Given the description of an element on the screen output the (x, y) to click on. 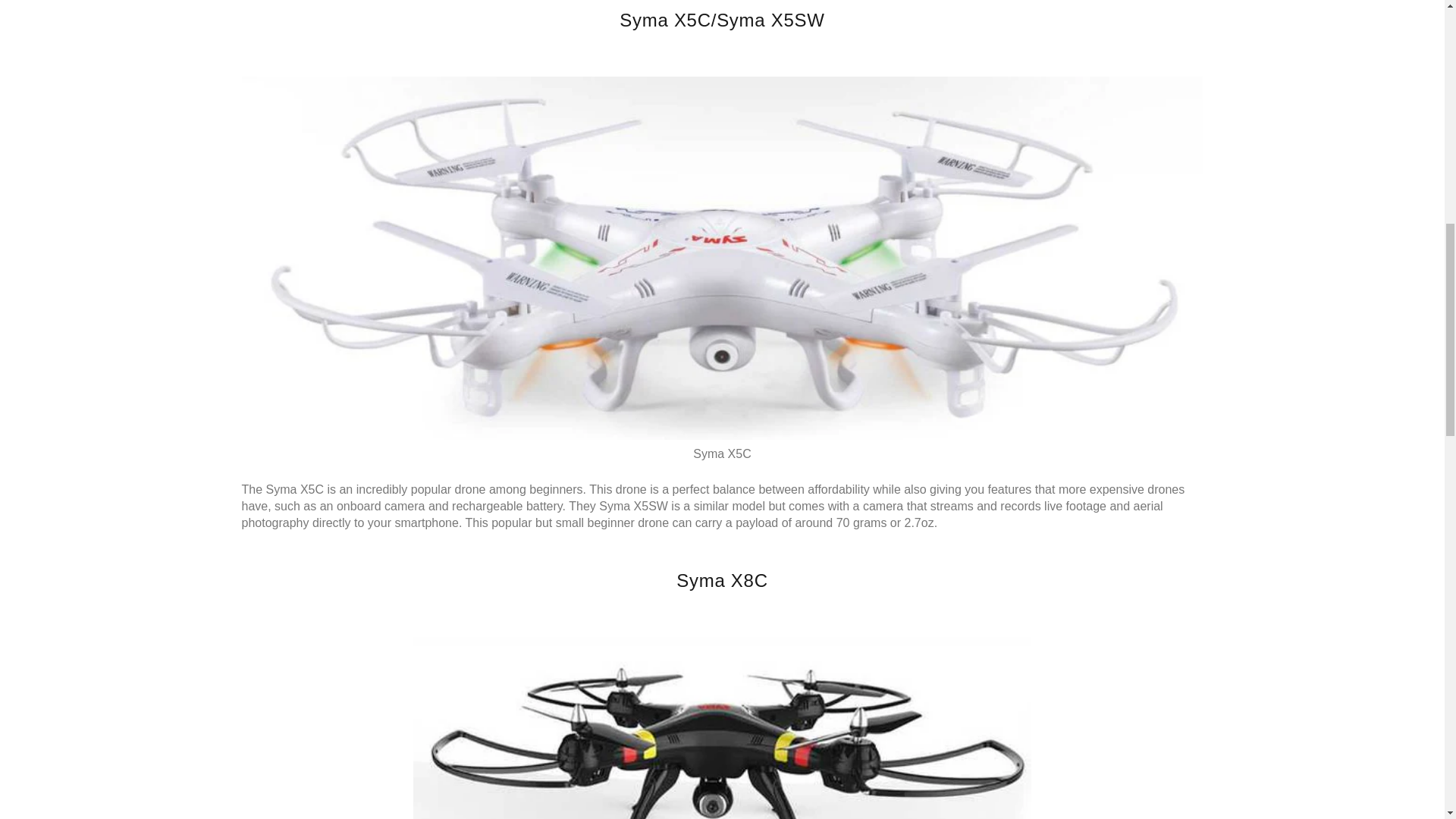
Syma X8C (721, 728)
